Given the description of an element on the screen output the (x, y) to click on. 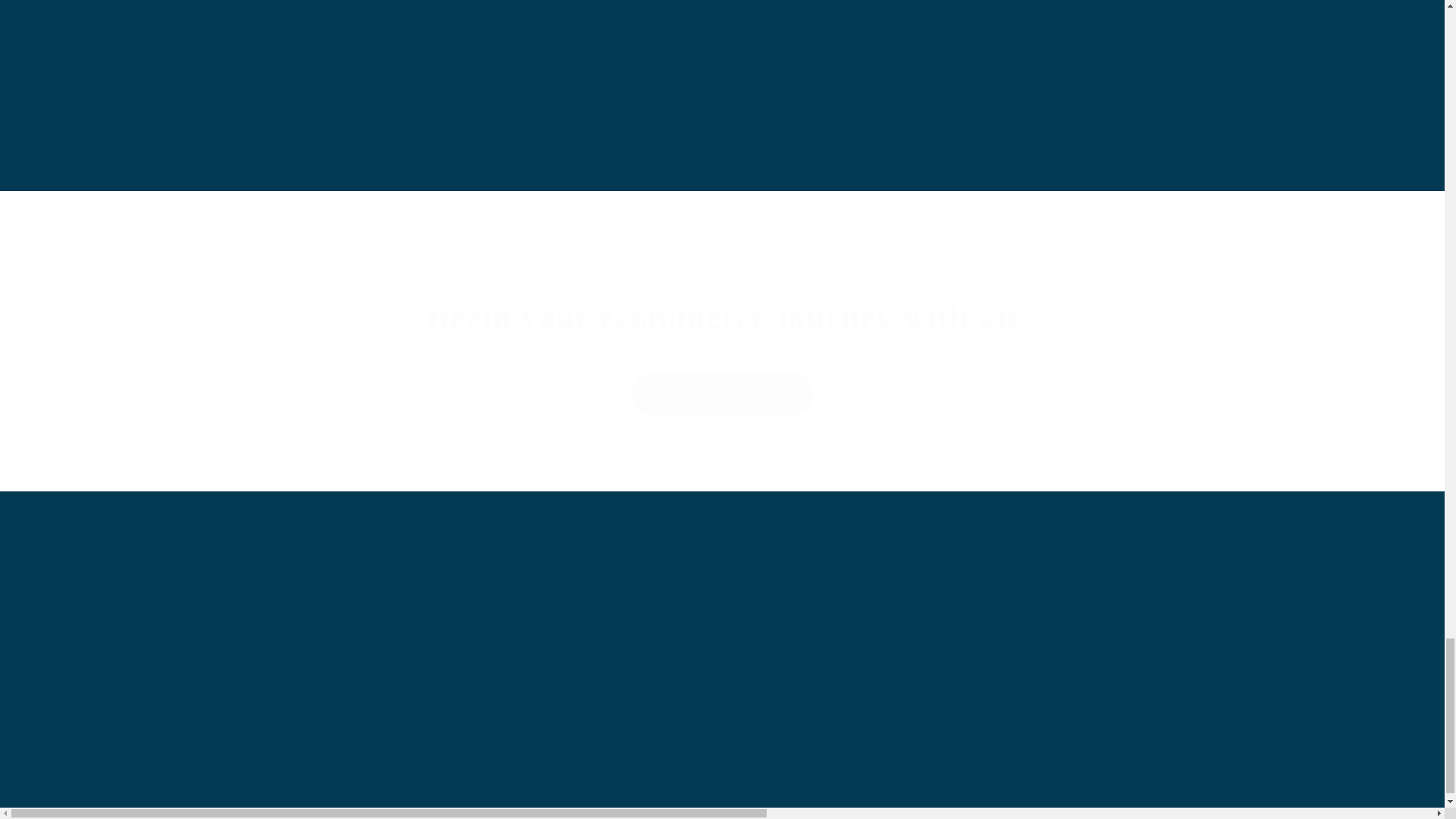
Post comment (474, 126)
